Given the description of an element on the screen output the (x, y) to click on. 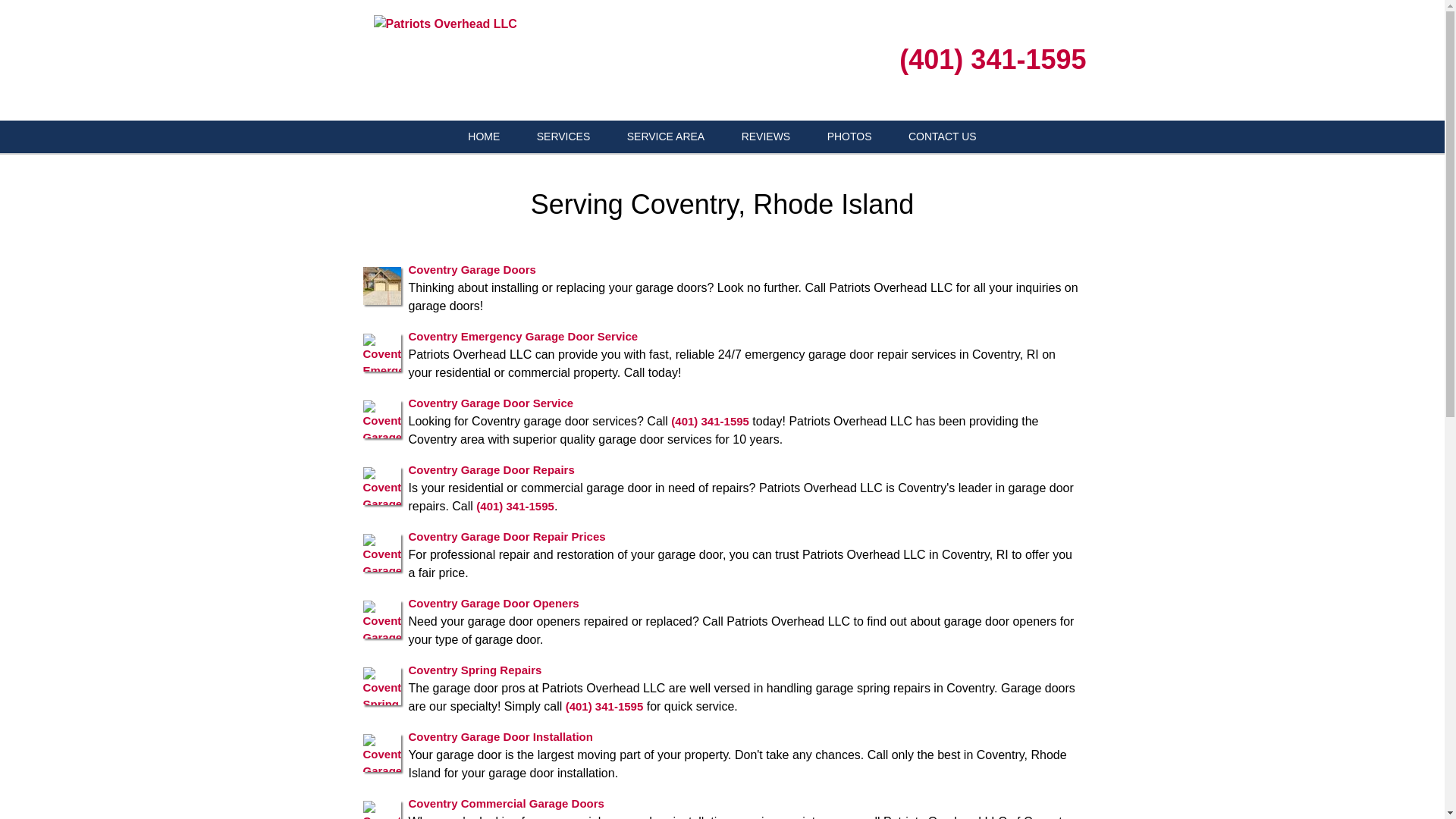
Coventry Emergency Garage Door Service (522, 335)
PHOTOS (849, 136)
Coventry Garage Door Repair Prices (506, 535)
REVIEWS (766, 136)
Coventry Garage Door Repairs (490, 468)
SERVICE AREA (665, 136)
Coventry Garage Doors (471, 268)
HOME (483, 136)
Coventry Garage Door Service (490, 401)
Coventry Commercial Garage Doors (505, 802)
CONTACT US (941, 136)
SERVICES (563, 136)
Coventry Spring Repairs (474, 668)
Coventry Garage Door Installation (499, 735)
Coventry Garage Door Openers (492, 602)
